Given the description of an element on the screen output the (x, y) to click on. 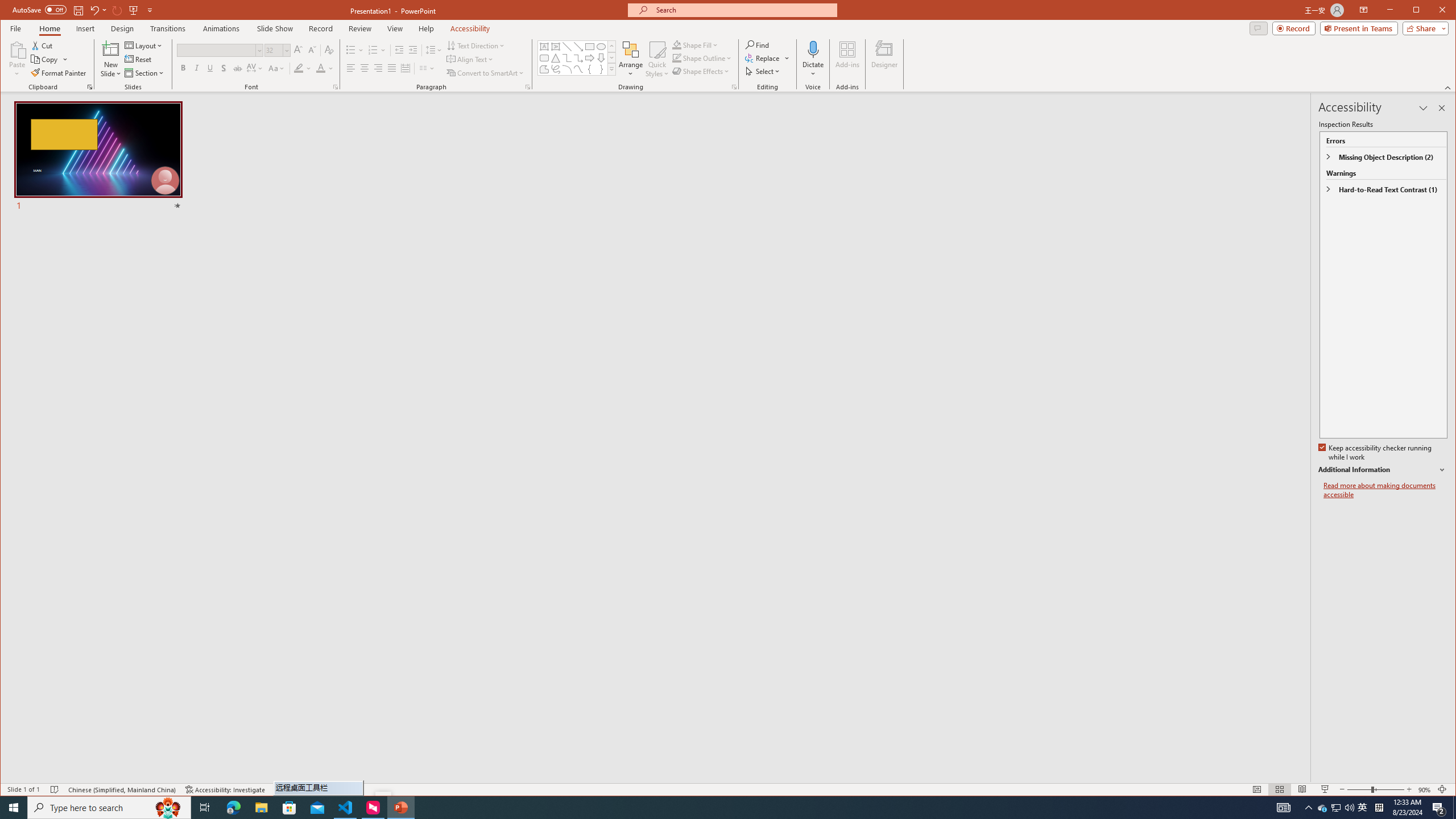
Q2790: 100% (1349, 807)
Strikethrough (237, 68)
Decrease Font Size (311, 49)
Read more about making documents accessible (1385, 489)
Keep accessibility checker running while I work (1375, 452)
Search highlights icon opens search home window (167, 807)
Type here to search (108, 807)
Notification Chevron (1308, 807)
Align Text (470, 59)
